Given the description of an element on the screen output the (x, y) to click on. 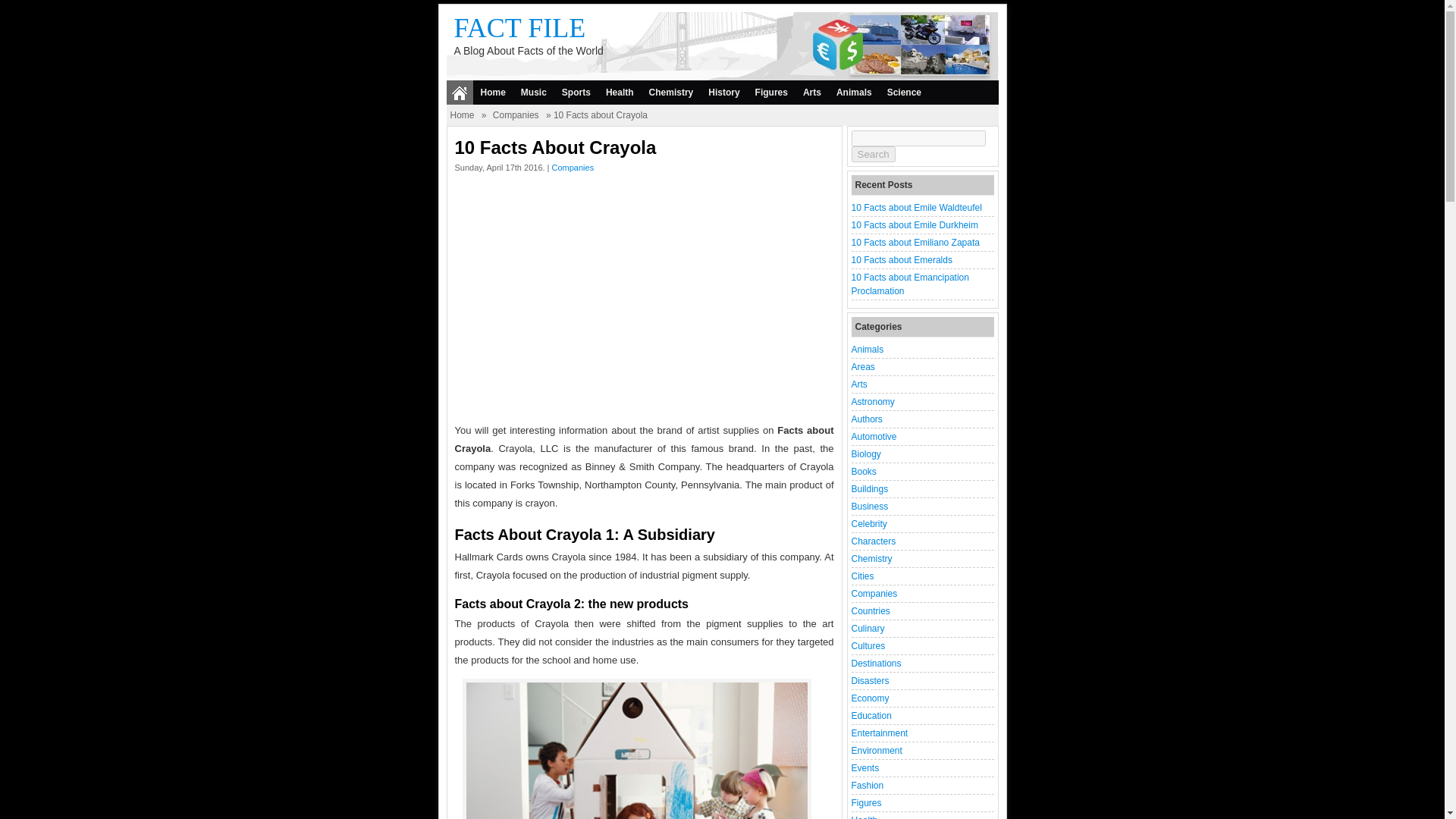
Automotive (873, 436)
Authors (866, 419)
Companies (516, 114)
Areas (862, 366)
Astronomy (871, 401)
Health (620, 92)
10 Facts about Emeralds (901, 259)
FACT FILE (518, 28)
Home (461, 114)
10 Facts about Emancipation Proclamation (909, 283)
10 Facts about Emile Durkheim (913, 225)
10 Facts about Emiliano Zapata (914, 242)
10 Facts about Emile Waldteufel (915, 207)
Home (493, 92)
Biology (865, 453)
